Given the description of an element on the screen output the (x, y) to click on. 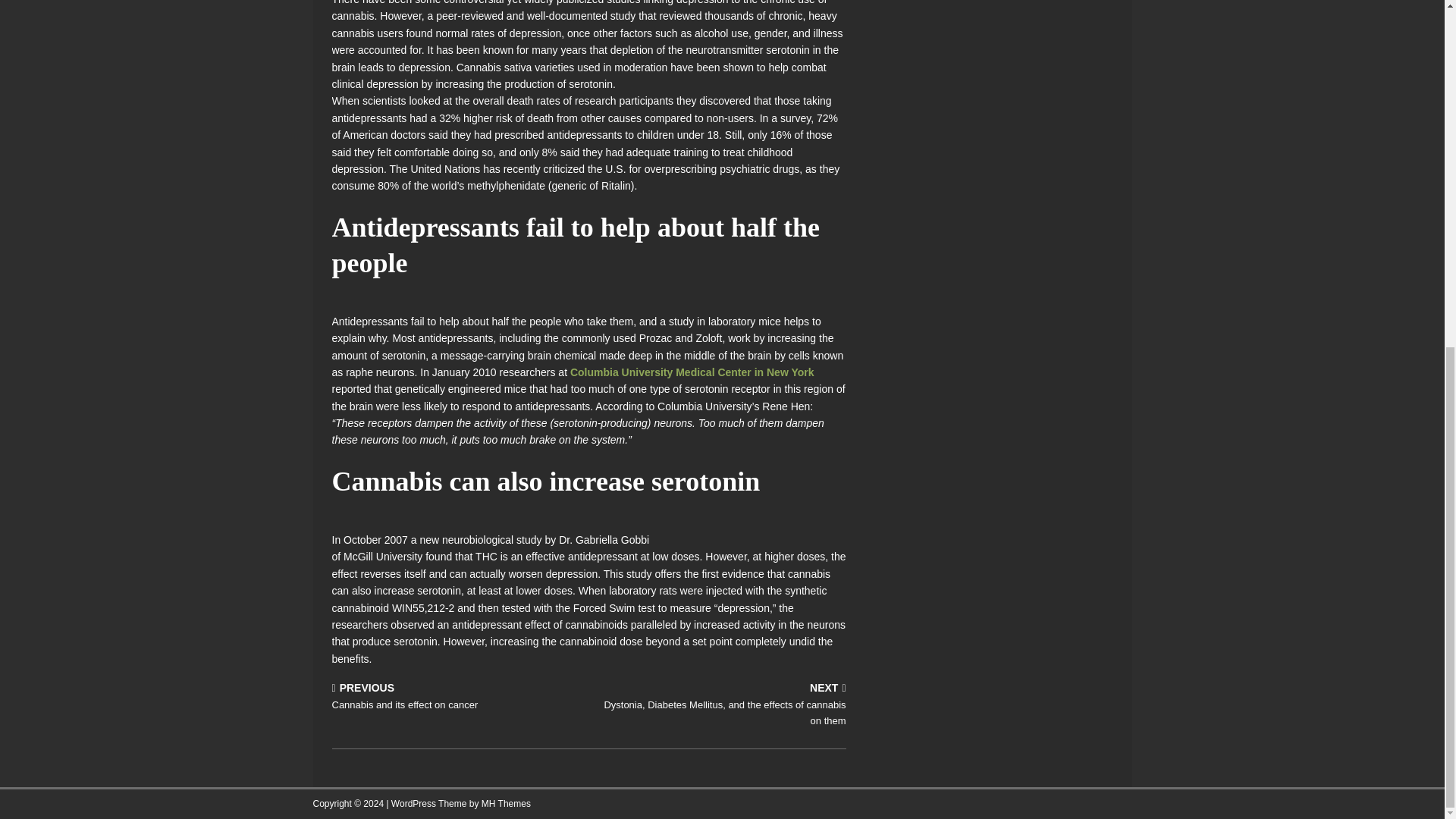
Columbia University Medical Center in New York (691, 372)
